Given the description of an element on the screen output the (x, y) to click on. 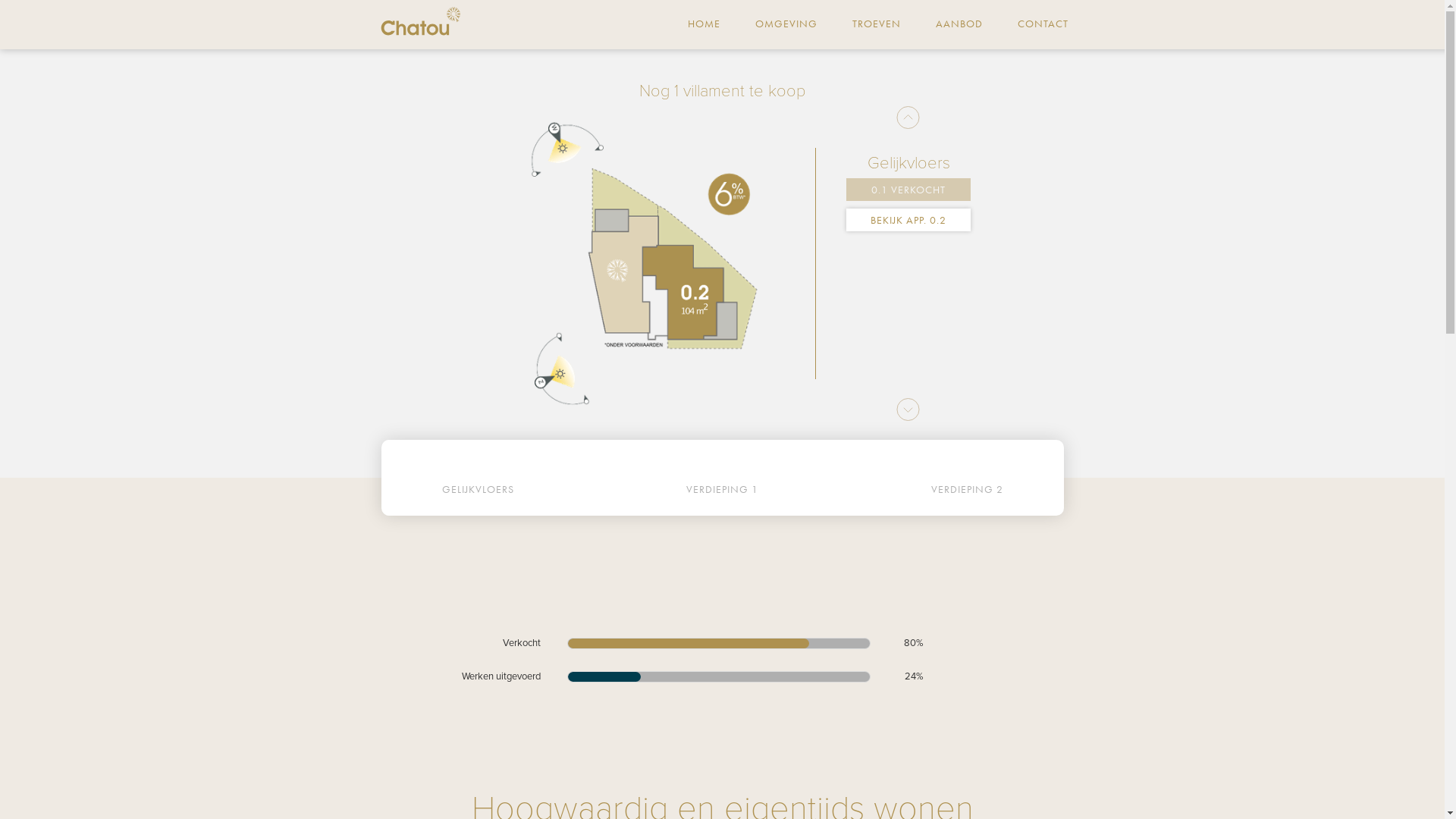
TROEVEN Element type: text (876, 23)
HOME Element type: text (703, 23)
0.1 VERKOCHT Element type: text (908, 189)
OMGEVING Element type: text (786, 23)
BEKIJK APP. 0.2 Element type: text (908, 219)
AANBOD Element type: text (958, 23)
CONTACT Element type: text (1042, 23)
